Given the description of an element on the screen output the (x, y) to click on. 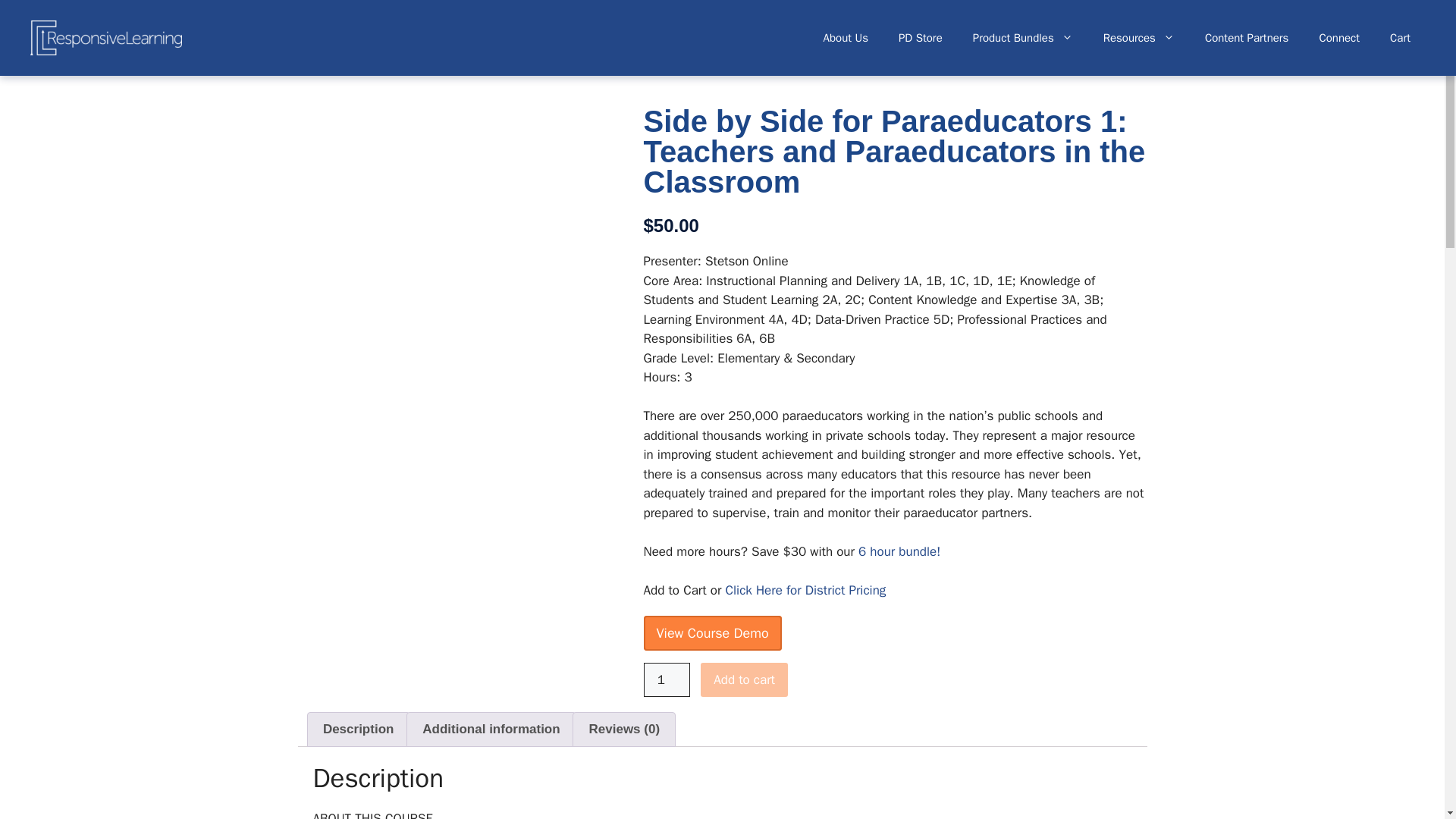
Content Partners (1246, 37)
1 (666, 679)
Click Here for District Pricing (805, 590)
Additional information (491, 729)
Add to cart (743, 679)
Cart (1399, 37)
6 hour bundle! (899, 550)
PD Store (920, 37)
About Us (845, 37)
Product Bundles (1022, 37)
